Given the description of an element on the screen output the (x, y) to click on. 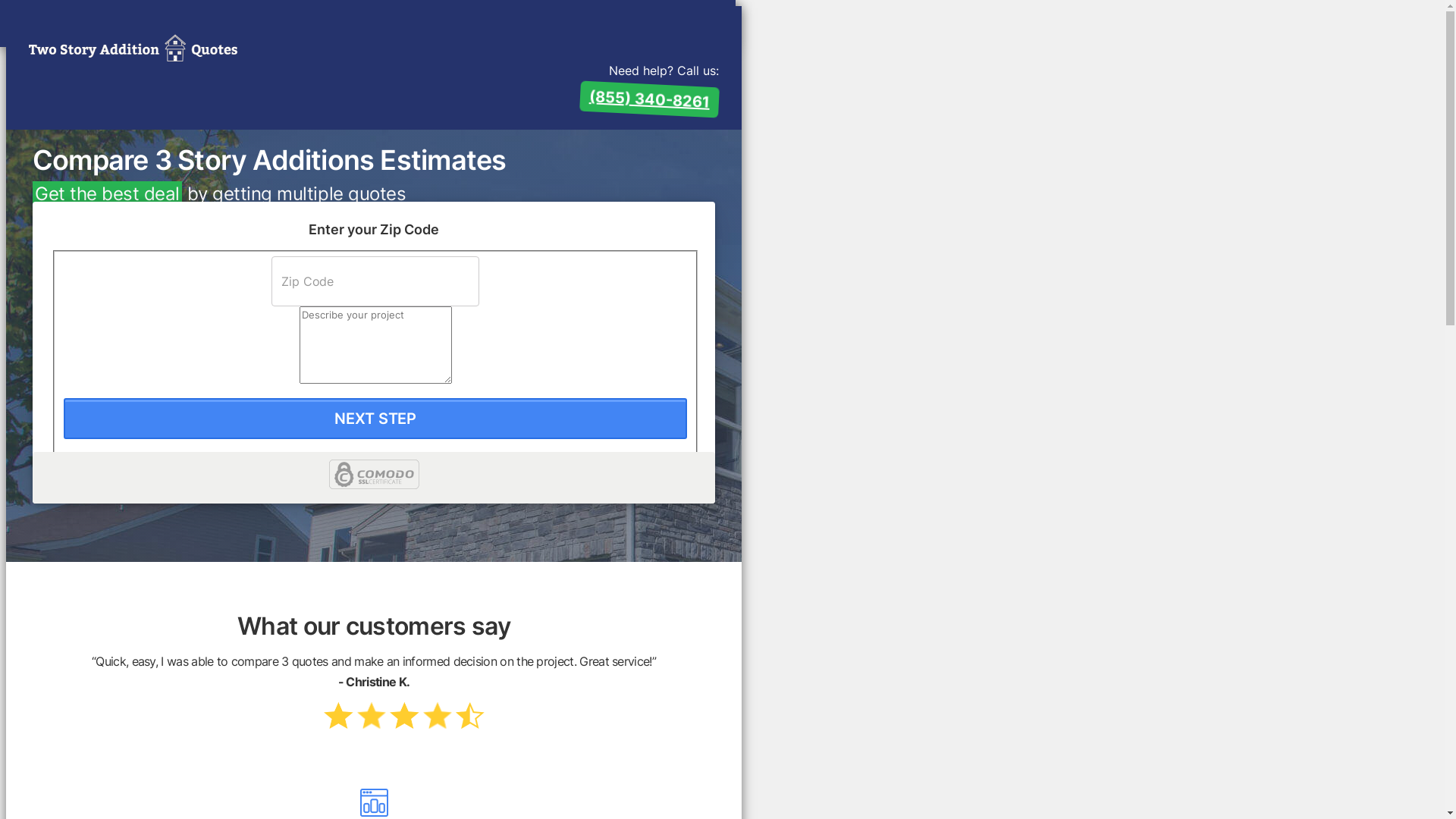
(855) 340-8261 Element type: text (420, 20)
(855) 340-8261 Element type: text (648, 95)
NEXT STEP Element type: text (375, 418)
2 Story Addition Quotes Element type: hover (133, 49)
